Given the description of an element on the screen output the (x, y) to click on. 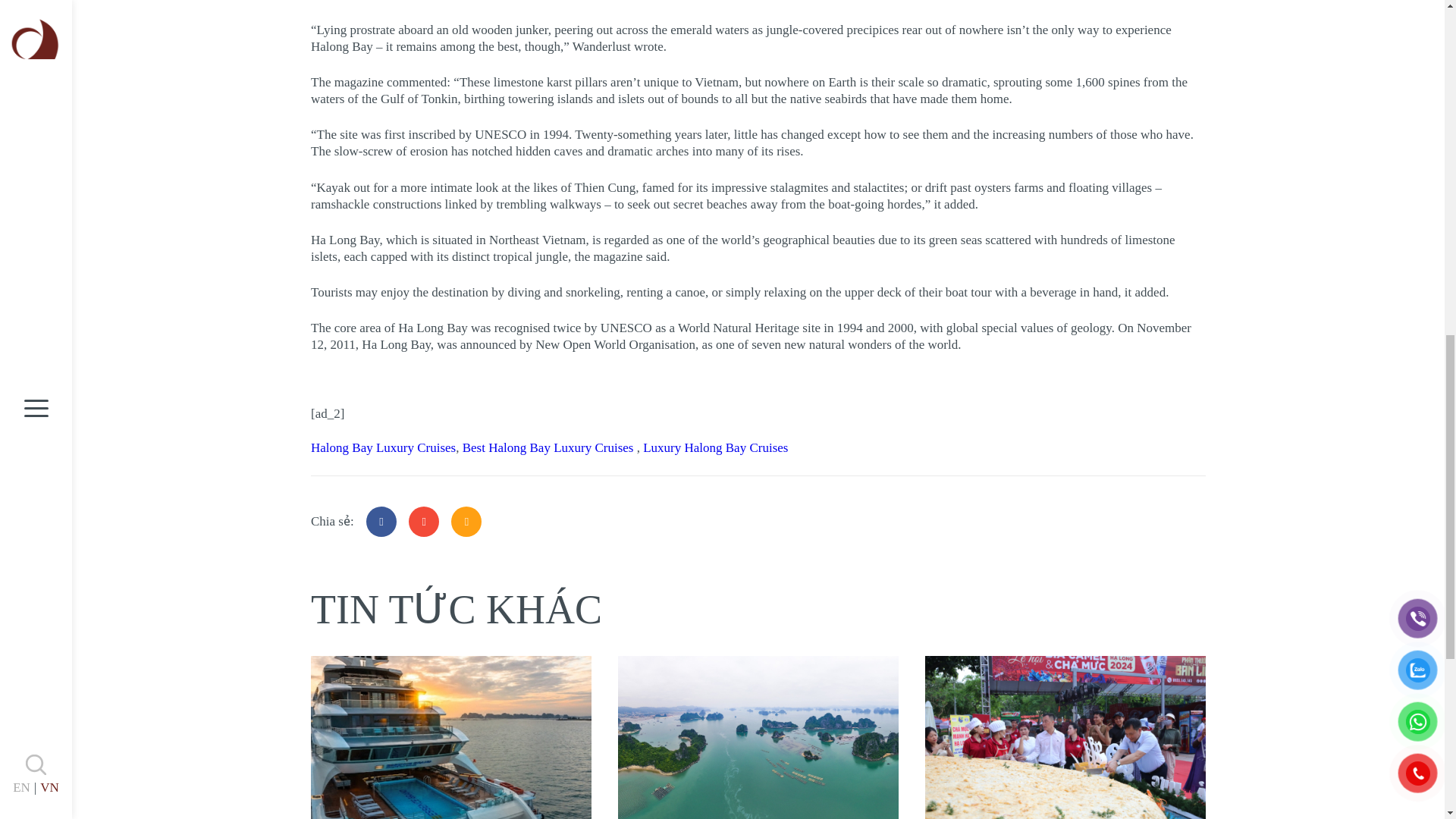
Best Halong Bay Luxury Cruises (550, 447)
Luxury Halong Bay Cruises (715, 447)
Halong Bay Luxury Cruises (383, 447)
